Given the description of an element on the screen output the (x, y) to click on. 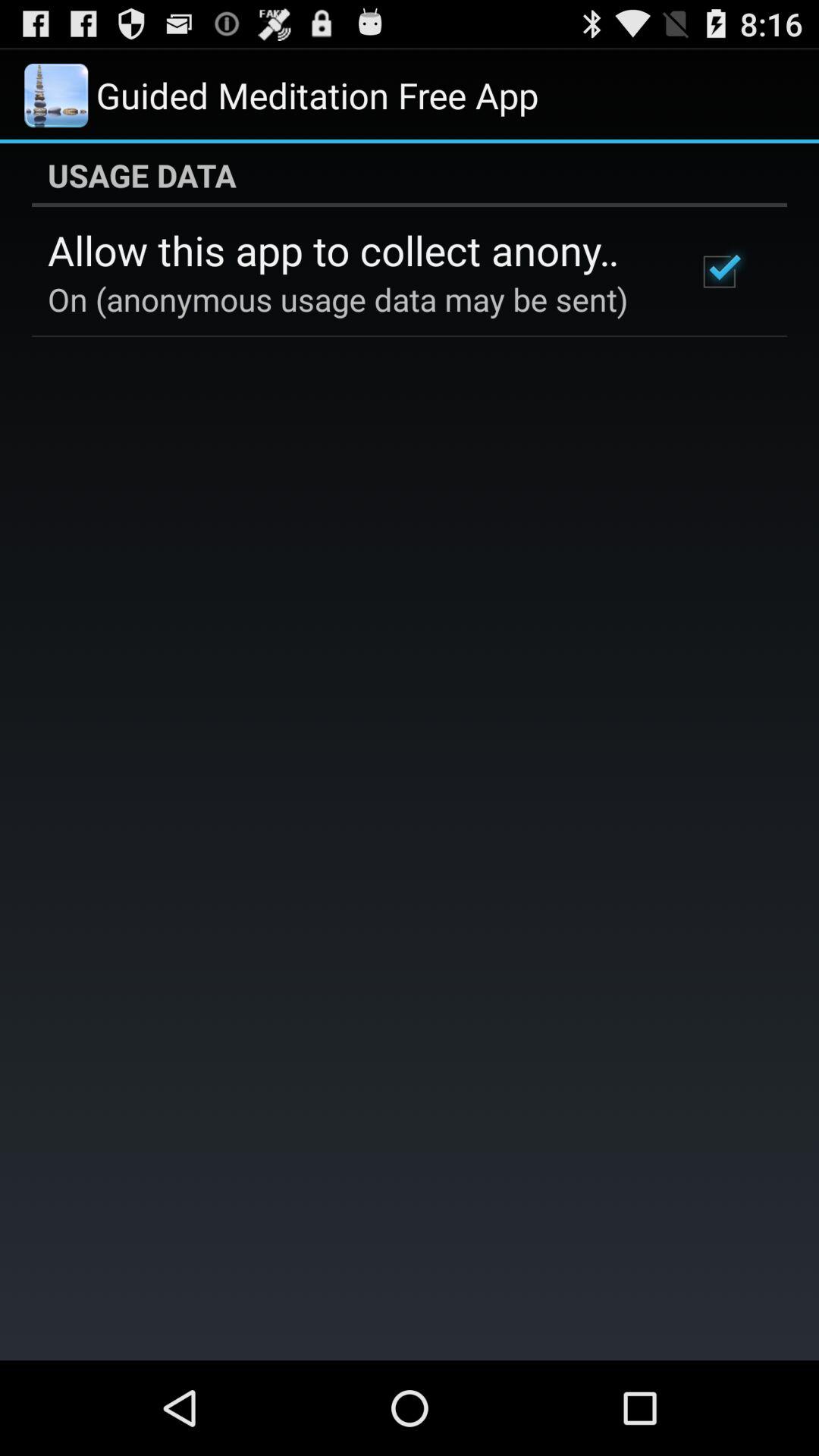
choose the item to the right of allow this app item (719, 271)
